Given the description of an element on the screen output the (x, y) to click on. 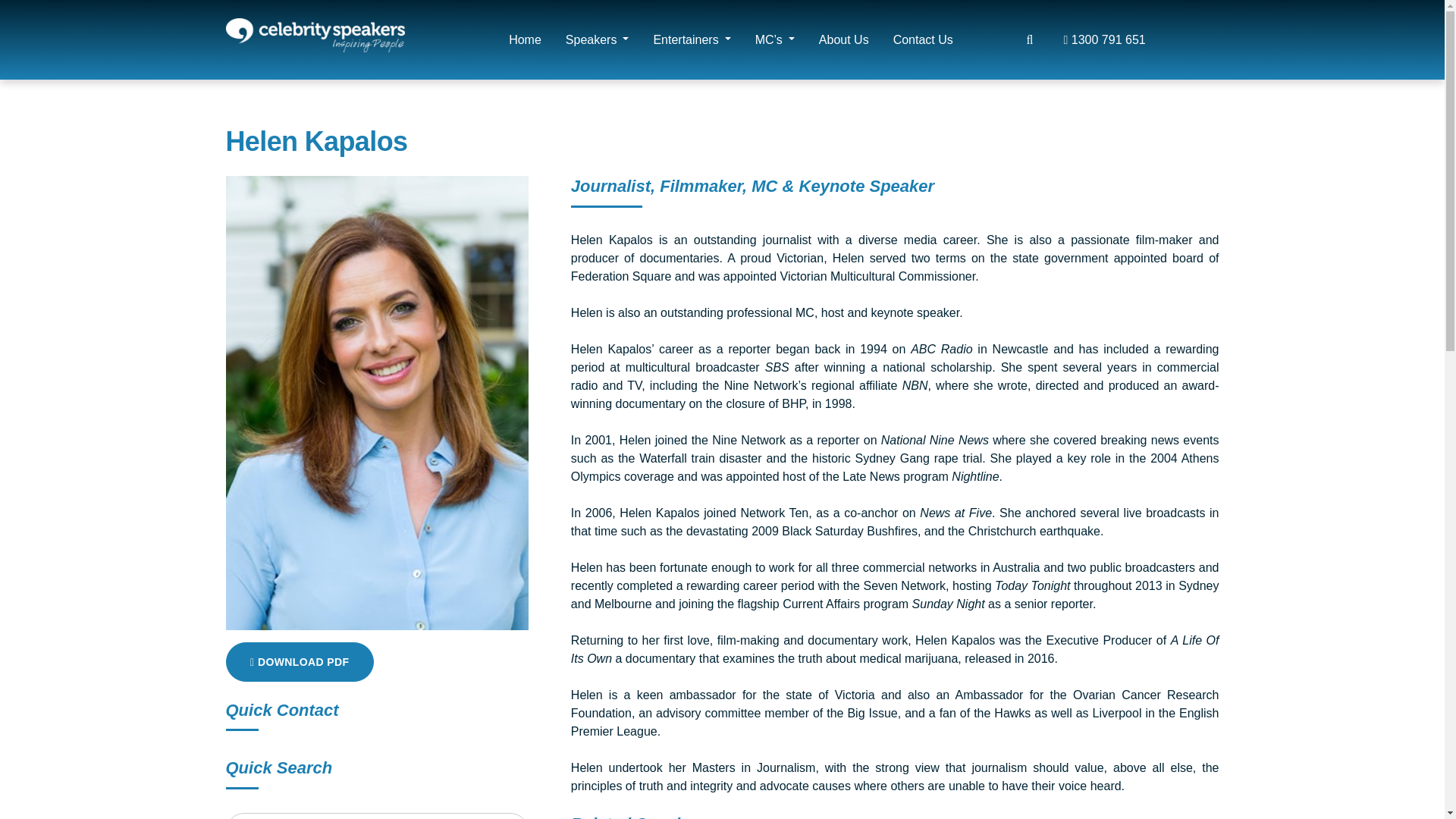
Home (524, 39)
Entertainers (691, 39)
Speakers (597, 39)
Celebrity Speakers (315, 39)
